Given the description of an element on the screen output the (x, y) to click on. 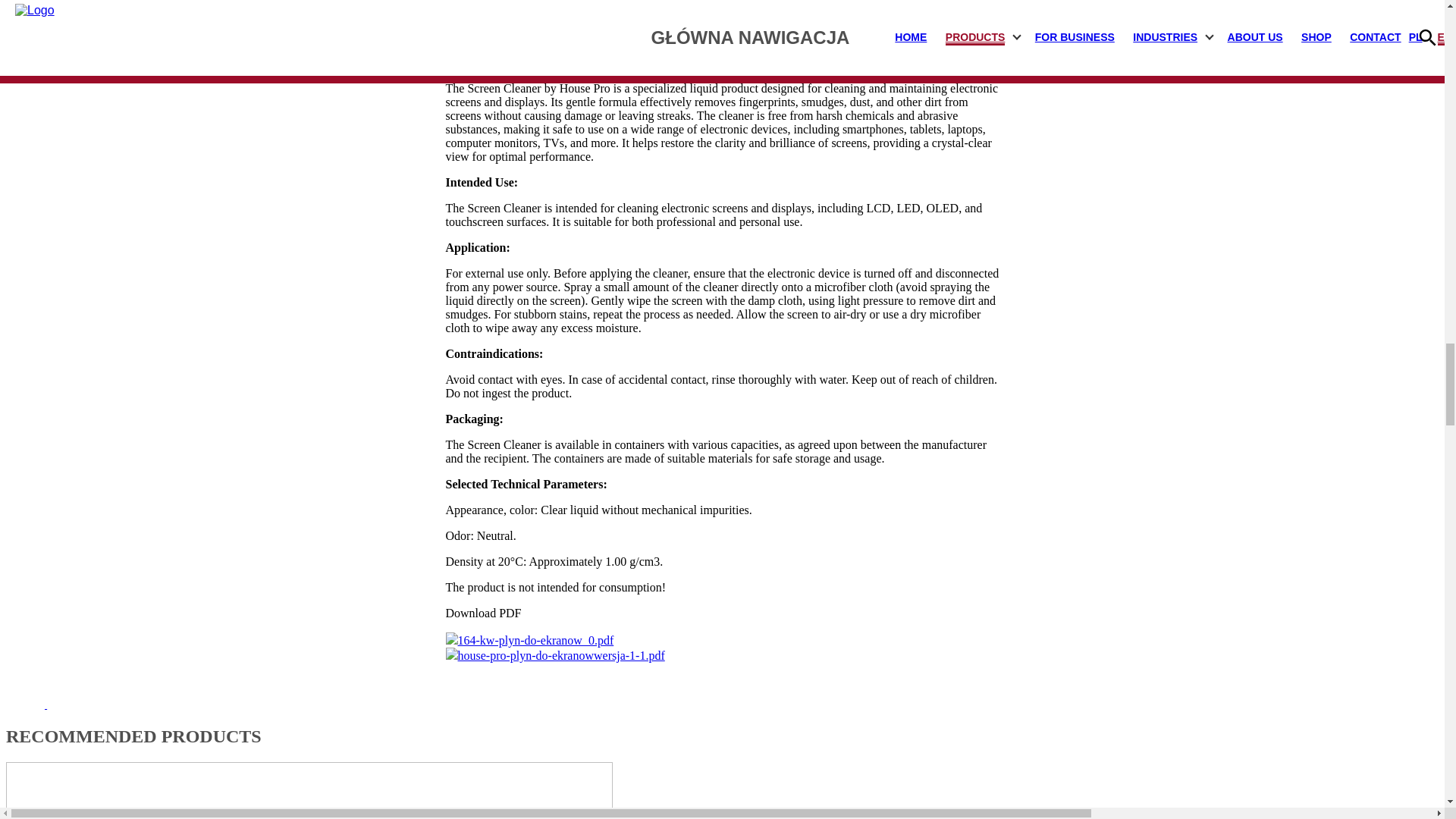
House Pro by Chemika Furniture Cleaner (721, 790)
house-pro-plyn-do-ekranowwersja-1-1.pdf (561, 655)
